Given the description of an element on the screen output the (x, y) to click on. 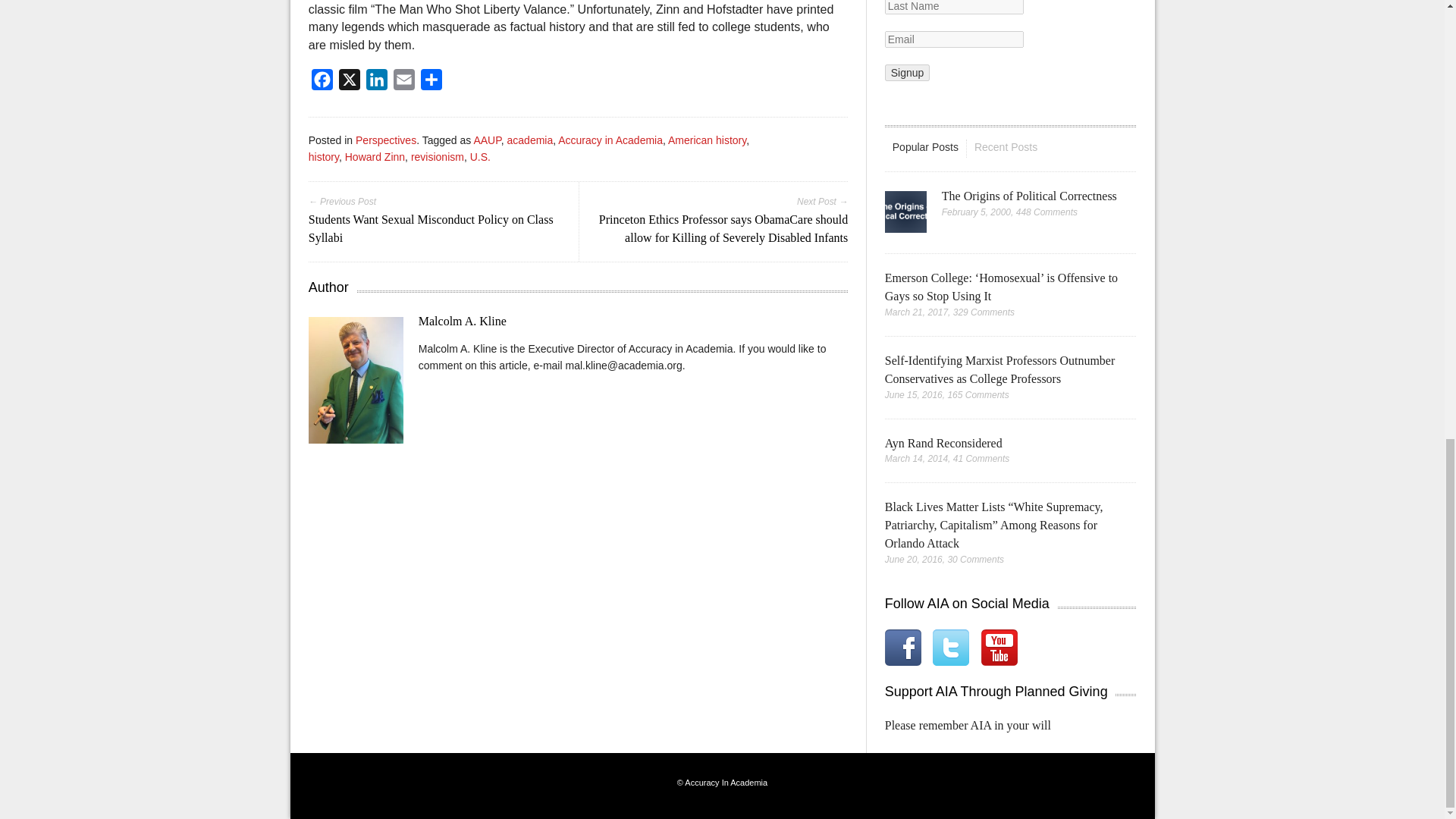
The Origins of Political Correctness (1029, 195)
academia (529, 140)
LinkedIn (376, 82)
X (349, 82)
U.S. (480, 156)
American history (706, 140)
Accuracy in Academia (609, 140)
Ayn Rand Reconsidered (944, 442)
history (323, 156)
Facebook (322, 82)
Popular Posts (925, 147)
X (349, 82)
AAUP (486, 140)
LinkedIn (376, 82)
